Given the description of an element on the screen output the (x, y) to click on. 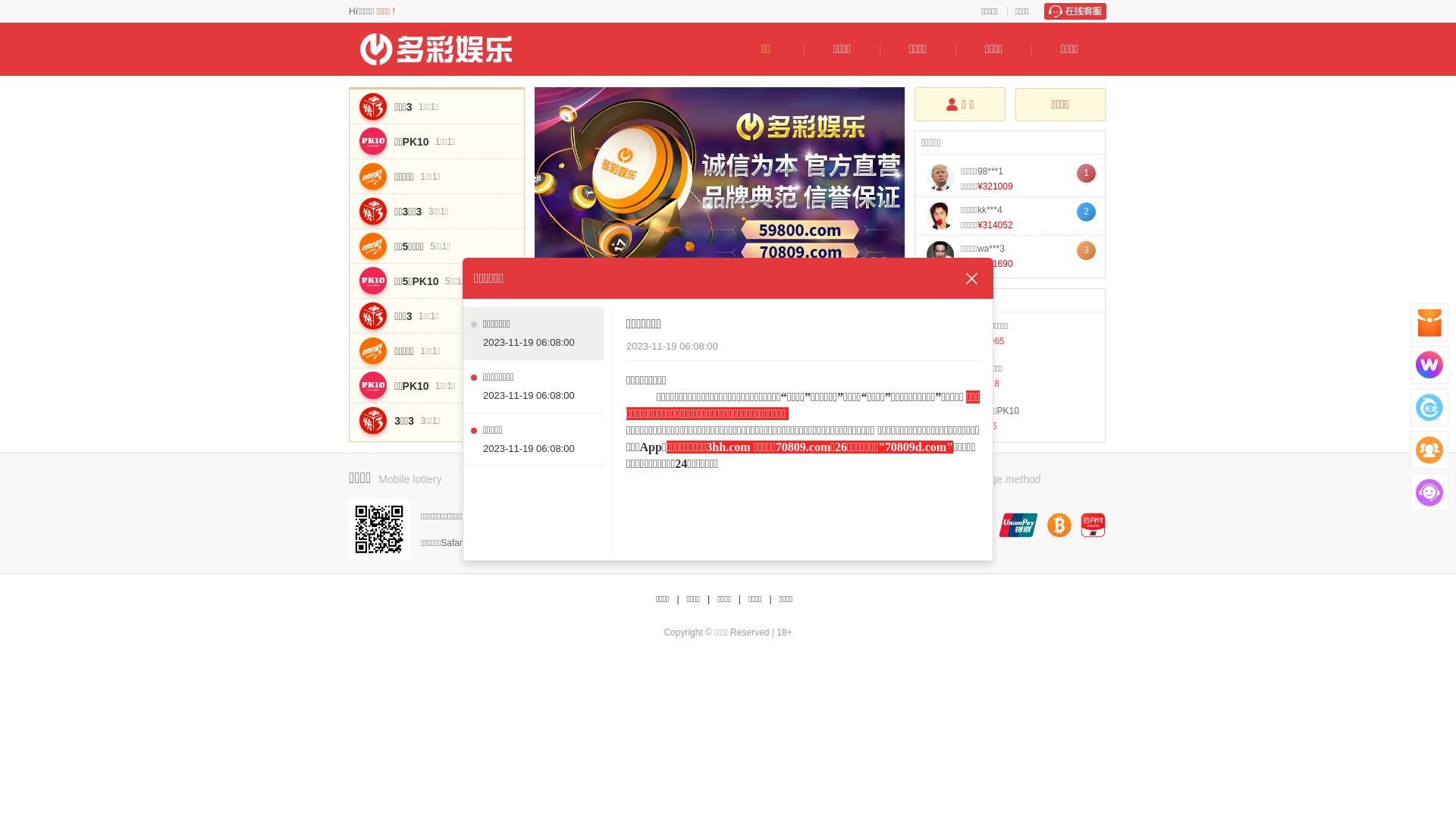
| Element type: text (708, 599)
| Element type: text (769, 599)
| Element type: text (739, 599)
| Element type: text (677, 599)
